Given the description of an element on the screen output the (x, y) to click on. 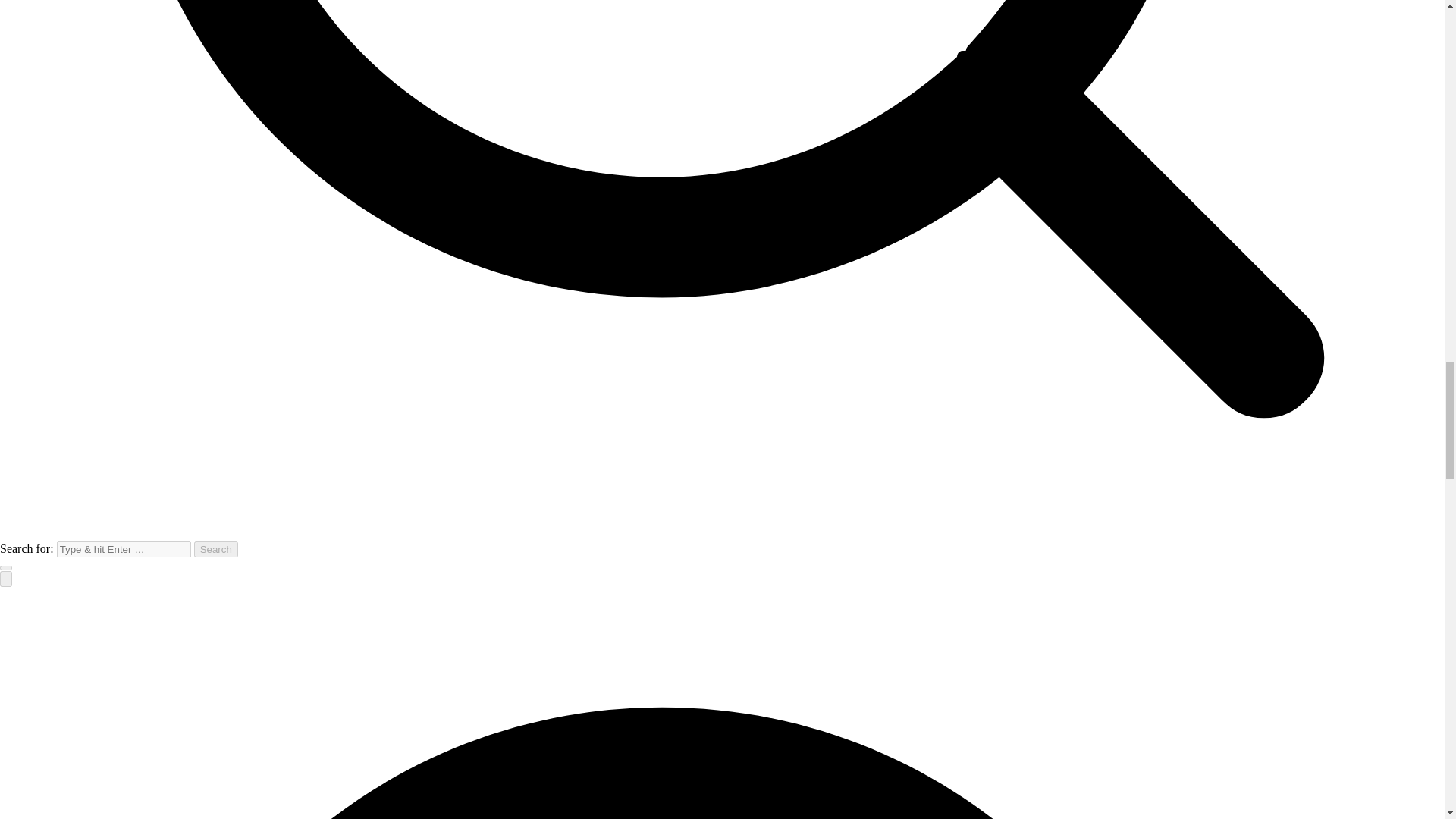
Search (215, 549)
Search for: (123, 549)
Search (215, 549)
Search (215, 549)
